Given the description of an element on the screen output the (x, y) to click on. 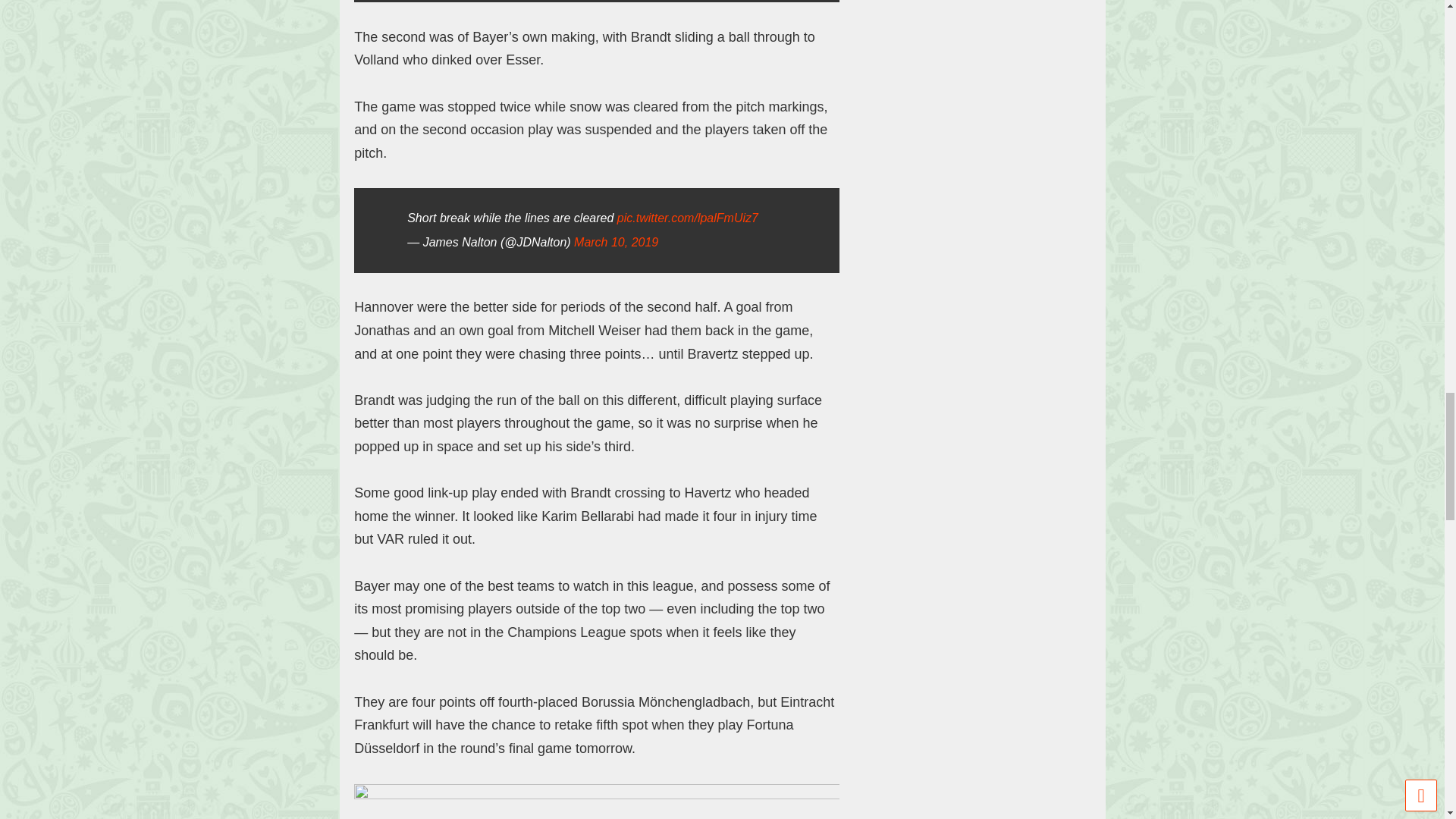
March 10, 2019 (615, 241)
